Given the description of an element on the screen output the (x, y) to click on. 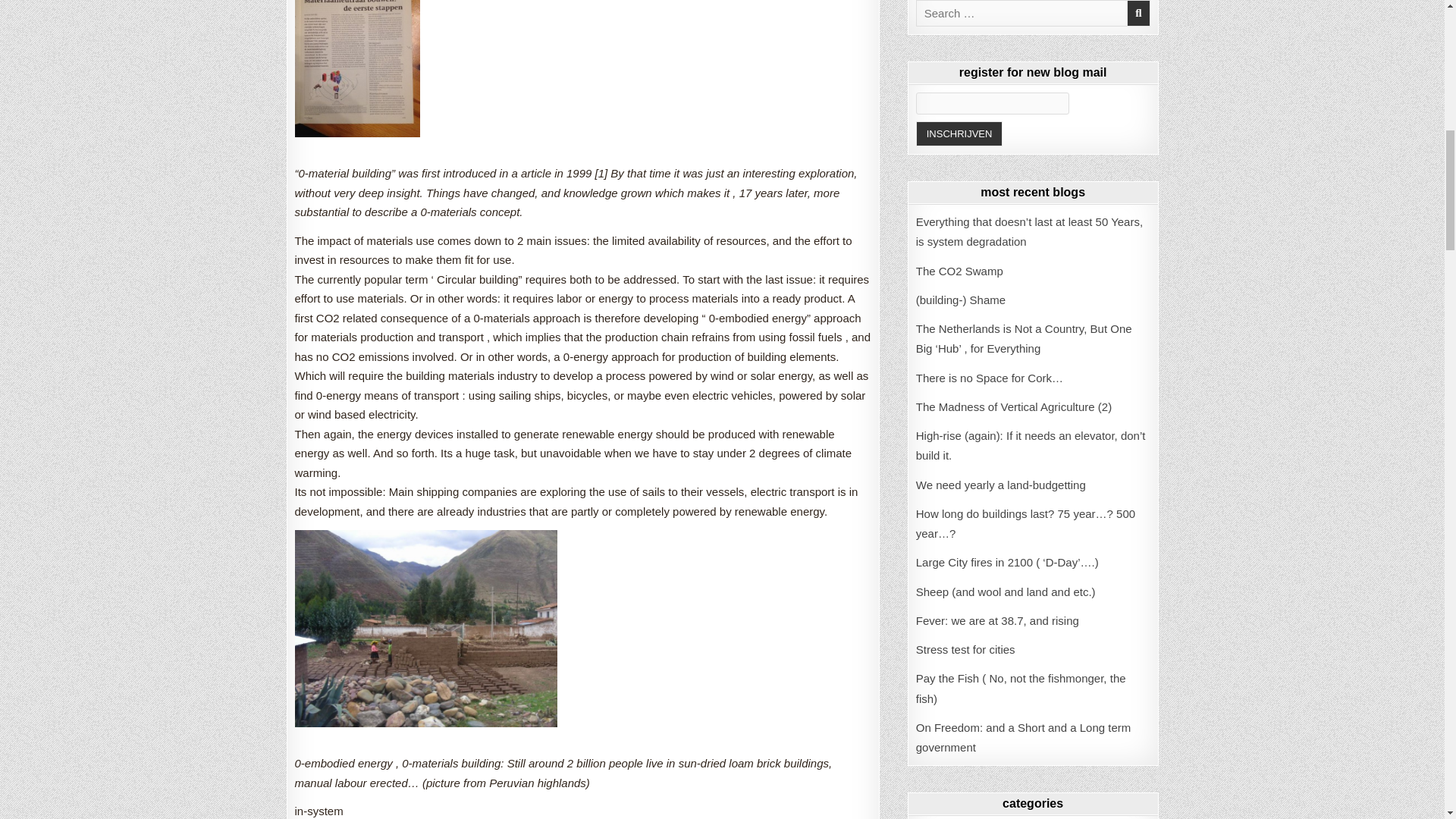
We need yearly a land-budgetting (1000, 484)
Inschrijven (959, 133)
The CO2 Swamp (959, 270)
Inschrijven (959, 133)
